Given the description of an element on the screen output the (x, y) to click on. 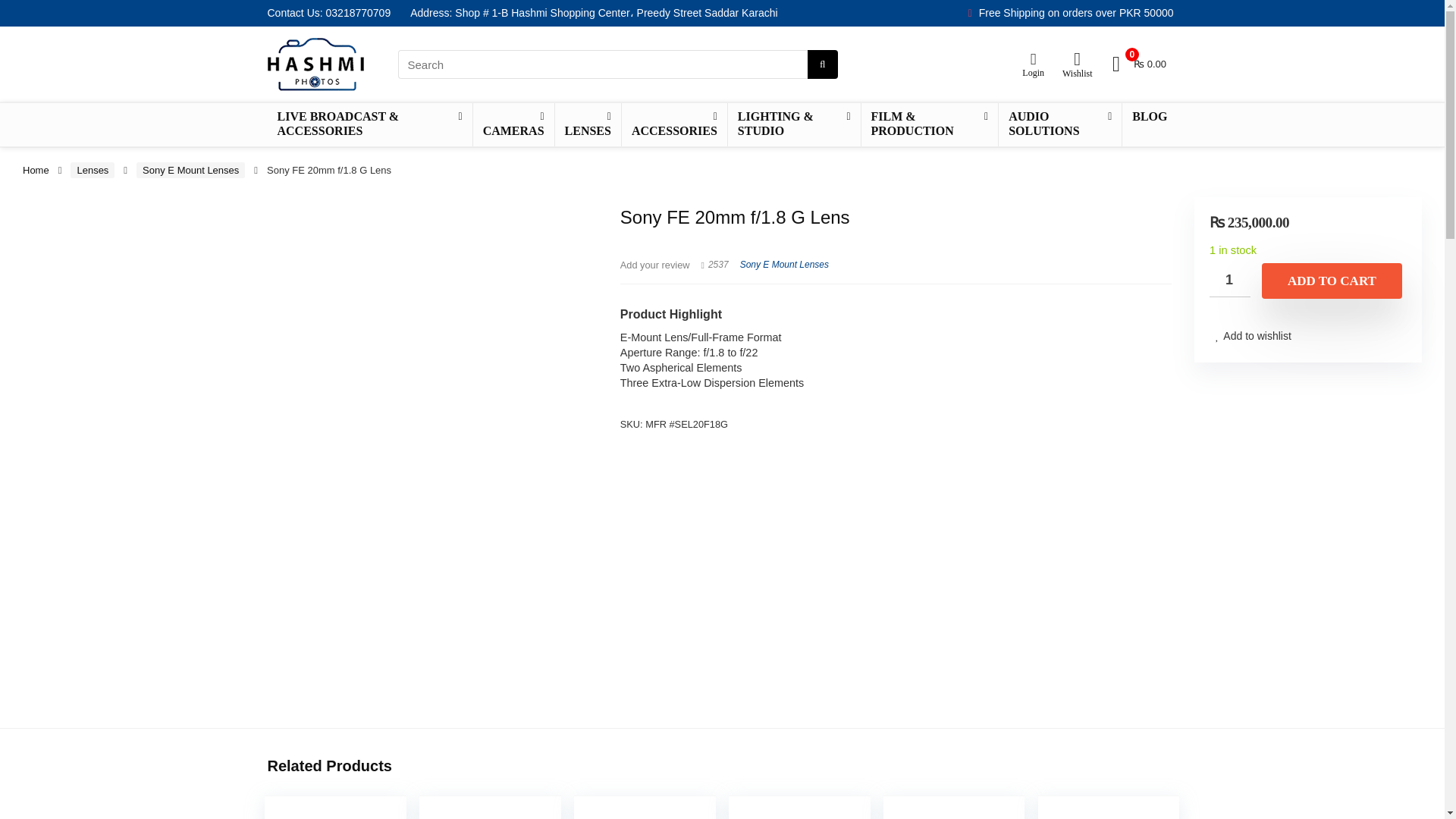
LENSES (587, 124)
Add your review (655, 265)
Contact Us: 03218770709 (328, 12)
View all posts in Sony E Mount Lenses (783, 264)
1 (1229, 279)
CAMERAS (513, 124)
